Given the description of an element on the screen output the (x, y) to click on. 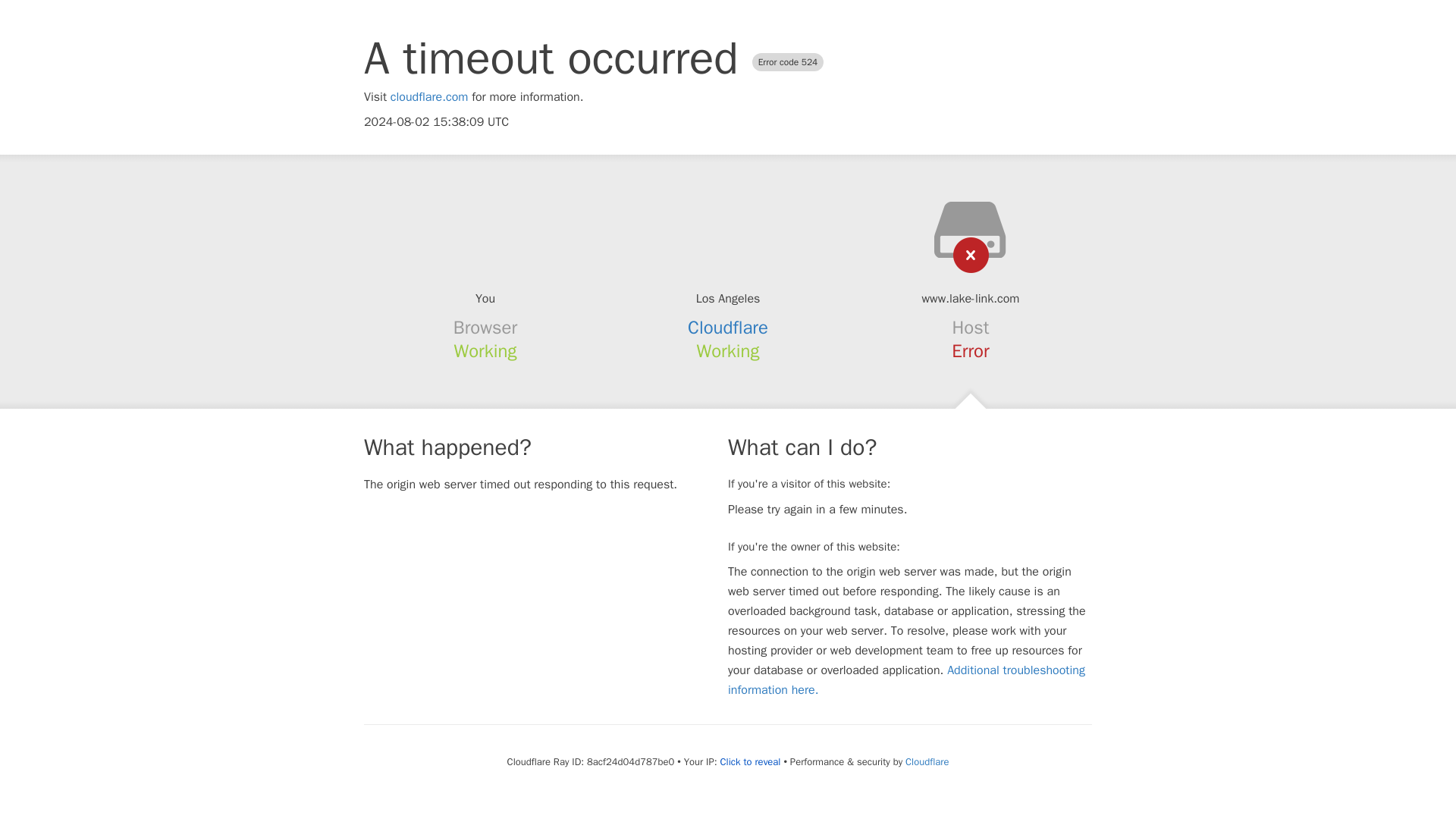
cloudflare.com (429, 96)
Click to reveal (750, 762)
Cloudflare (727, 327)
Additional troubleshooting information here. (906, 679)
Cloudflare (927, 761)
